Given the description of an element on the screen output the (x, y) to click on. 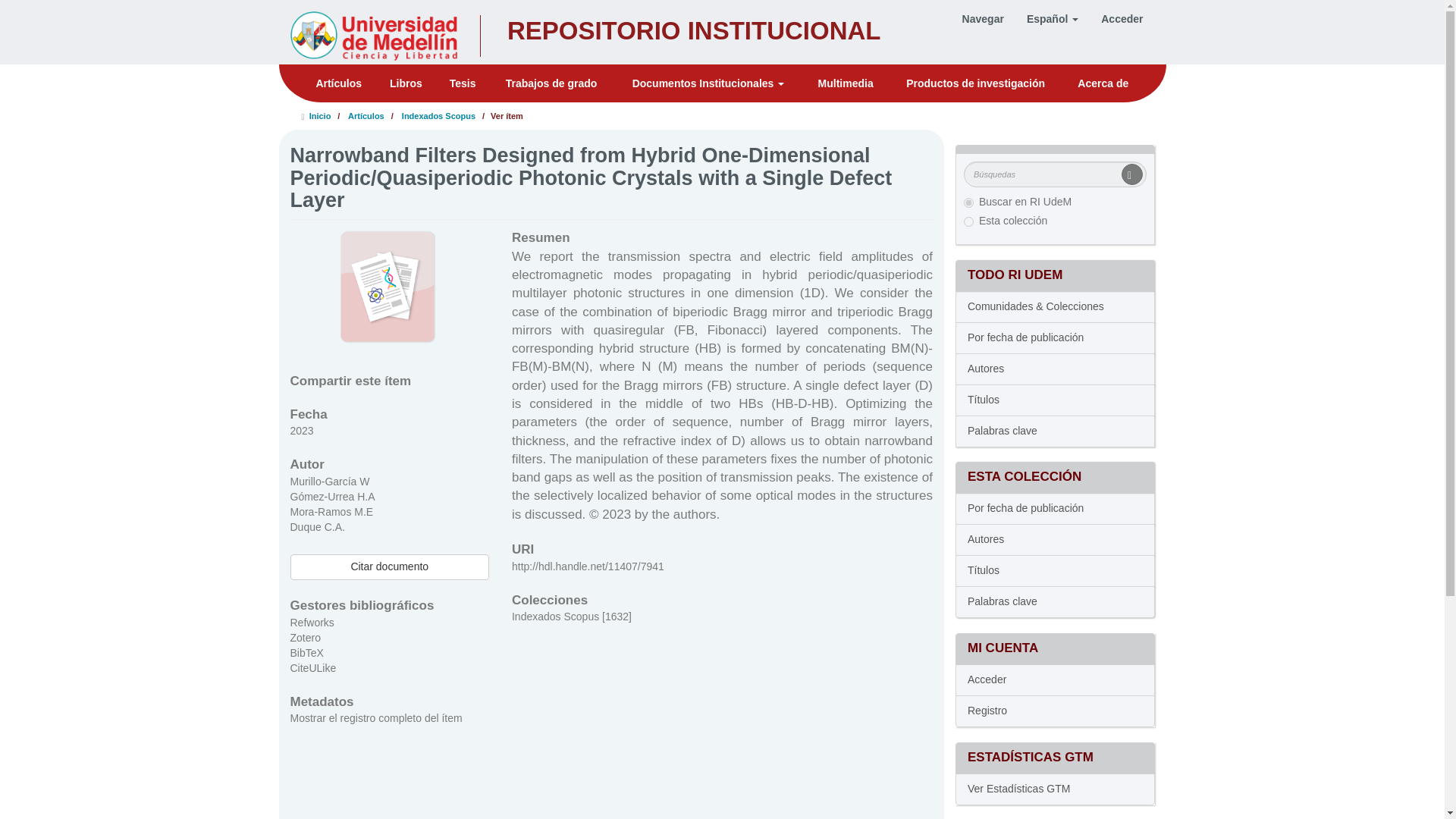
Documentos Institucionales (707, 83)
Inicio (319, 115)
Acceder (1121, 18)
Trabajos de grado (550, 83)
Libros (405, 83)
Ir (1131, 174)
Multimedia (845, 83)
Citar documento (388, 566)
Navegar (982, 18)
Indexados Scopus (438, 115)
Acerca de (1102, 83)
Tesis (585, 32)
